Given the description of an element on the screen output the (x, y) to click on. 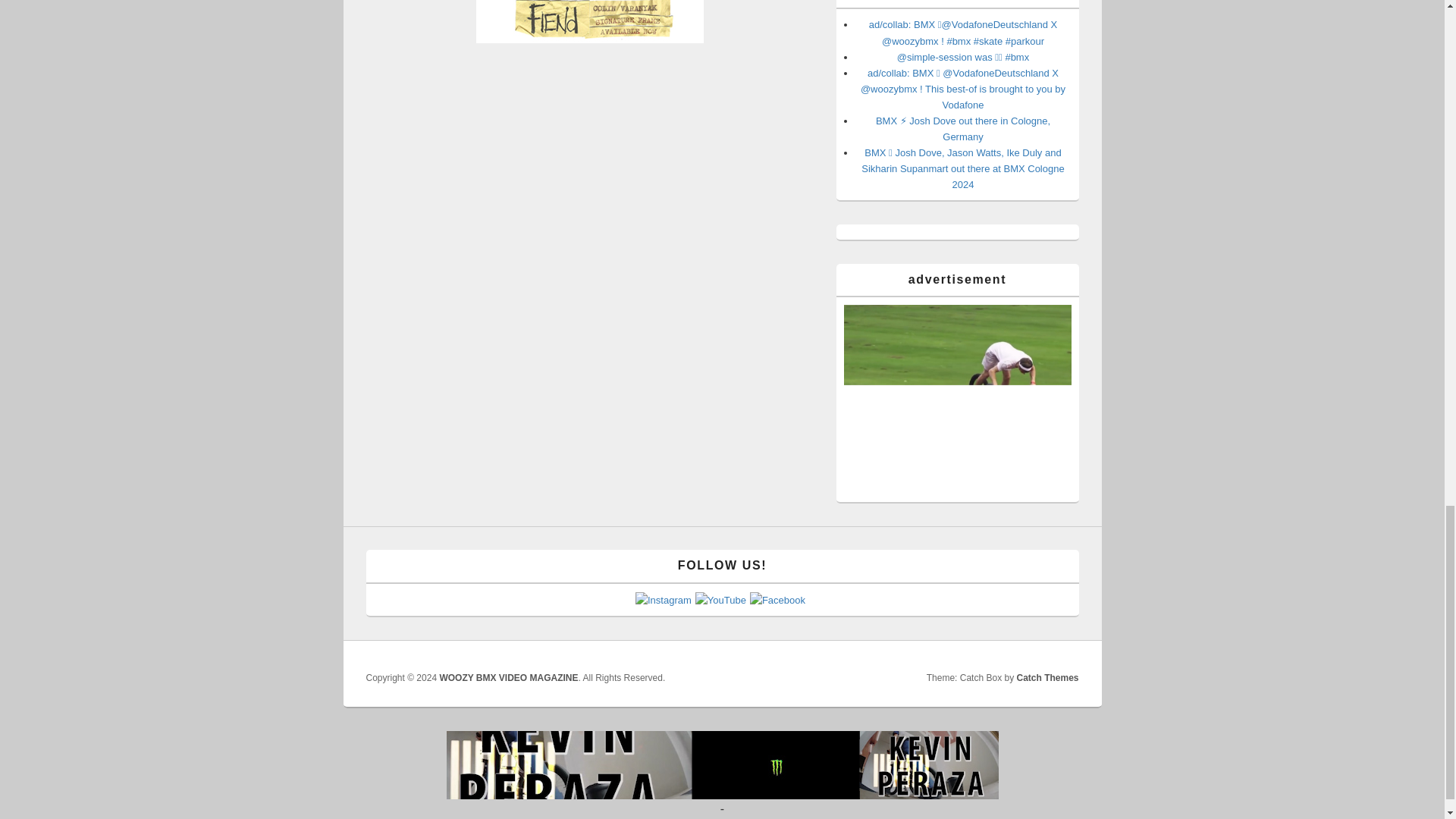
youtube.com (956, 399)
sibmx.de (589, 21)
woozybmx on Instagram (662, 600)
